Given the description of an element on the screen output the (x, y) to click on. 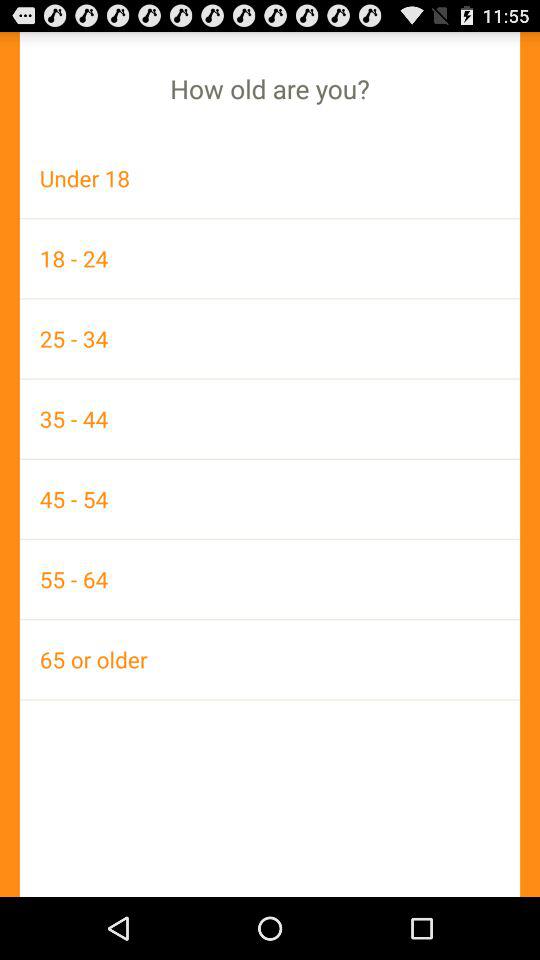
tap app above the 18 - 24 (269, 177)
